Given the description of an element on the screen output the (x, y) to click on. 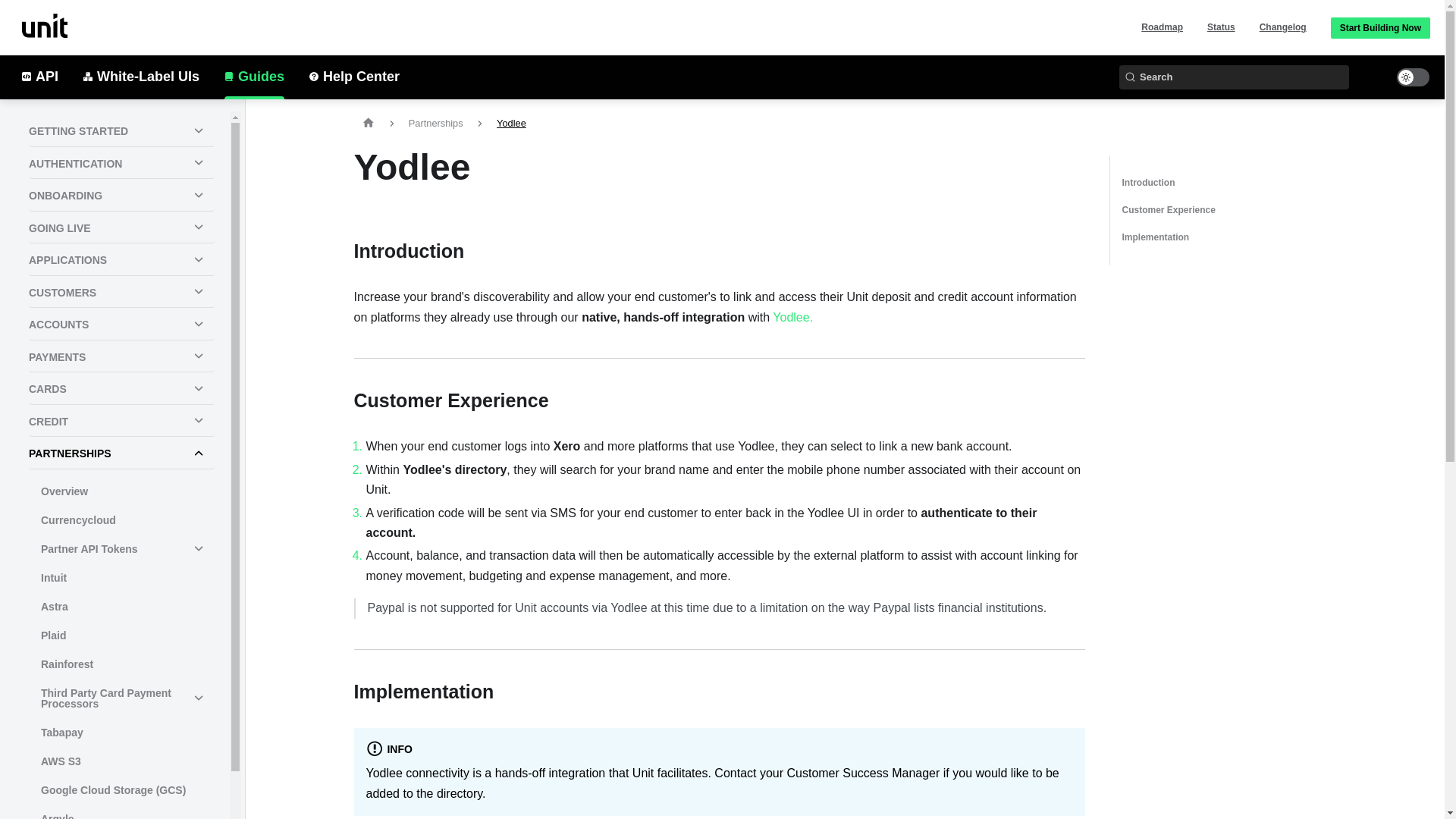
PARTNERSHIPS (121, 454)
Tabapay (121, 731)
Astra (121, 605)
GETTING STARTED (121, 132)
ONBOARDING (121, 196)
Changelog (1282, 27)
AWS S3 (121, 760)
Start Building Now (1379, 26)
GOING LIVE (121, 228)
APPLICATIONS (121, 261)
